Given the description of an element on the screen output the (x, y) to click on. 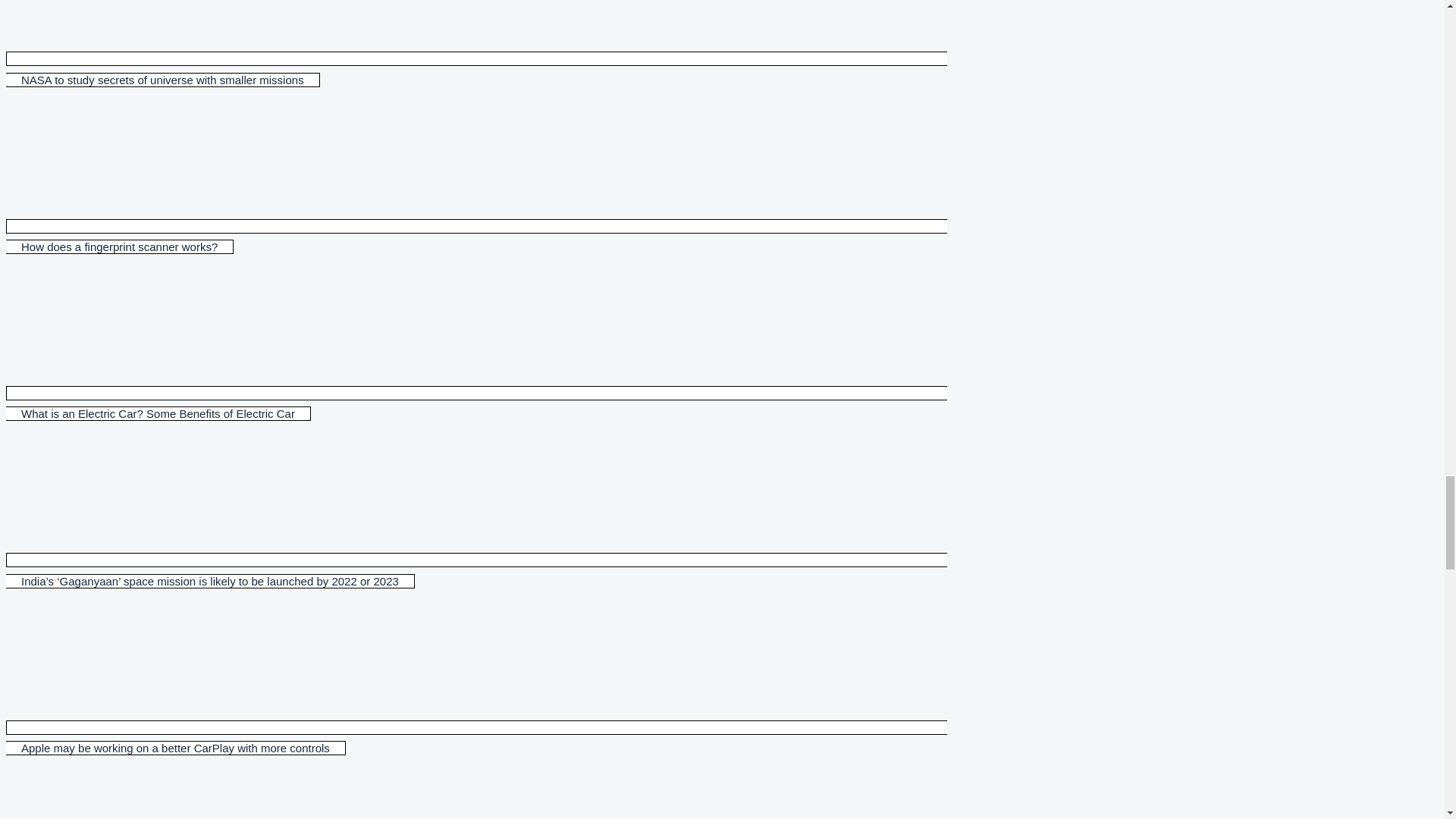
NASA to study secrets of universe with smaller missions (476, 68)
What is an Electric Car? Some Benefits of Electric Car (476, 402)
How does a fingerprint scanner works? (476, 236)
Apple may be working on a better CarPlay with more controls (476, 737)
NASA to study secrets of universe with smaller missions (476, 68)
